Given the description of an element on the screen output the (x, y) to click on. 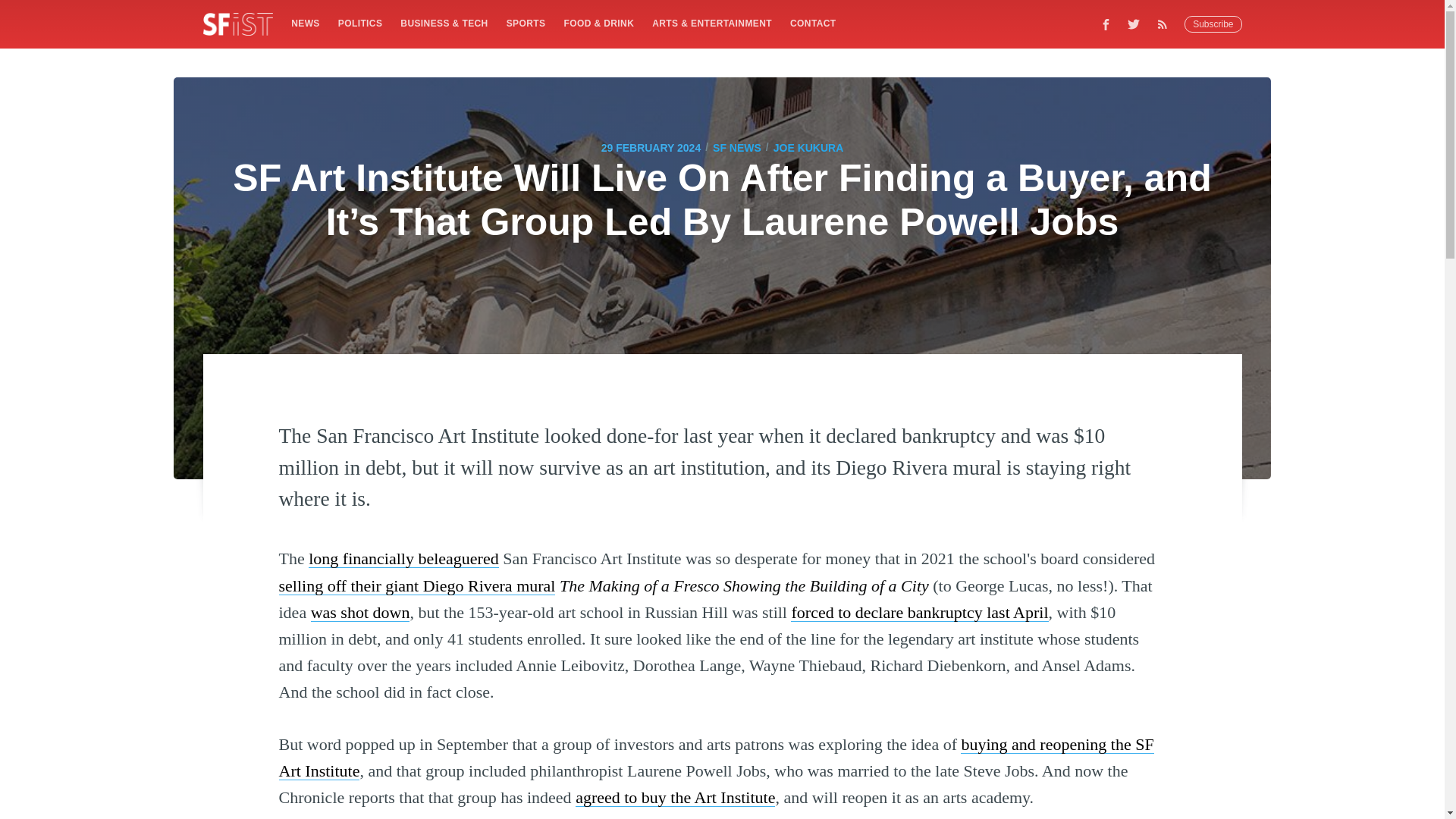
RSS (1166, 23)
agreed to buy the Art Institute (674, 796)
Twitter (1133, 23)
SF NEWS (737, 147)
JOE KUKURA (808, 147)
CONTACT (812, 23)
Facebook (1106, 23)
long financially beleaguered (402, 558)
POLITICS (360, 23)
NEWS (305, 23)
